Given the description of an element on the screen output the (x, y) to click on. 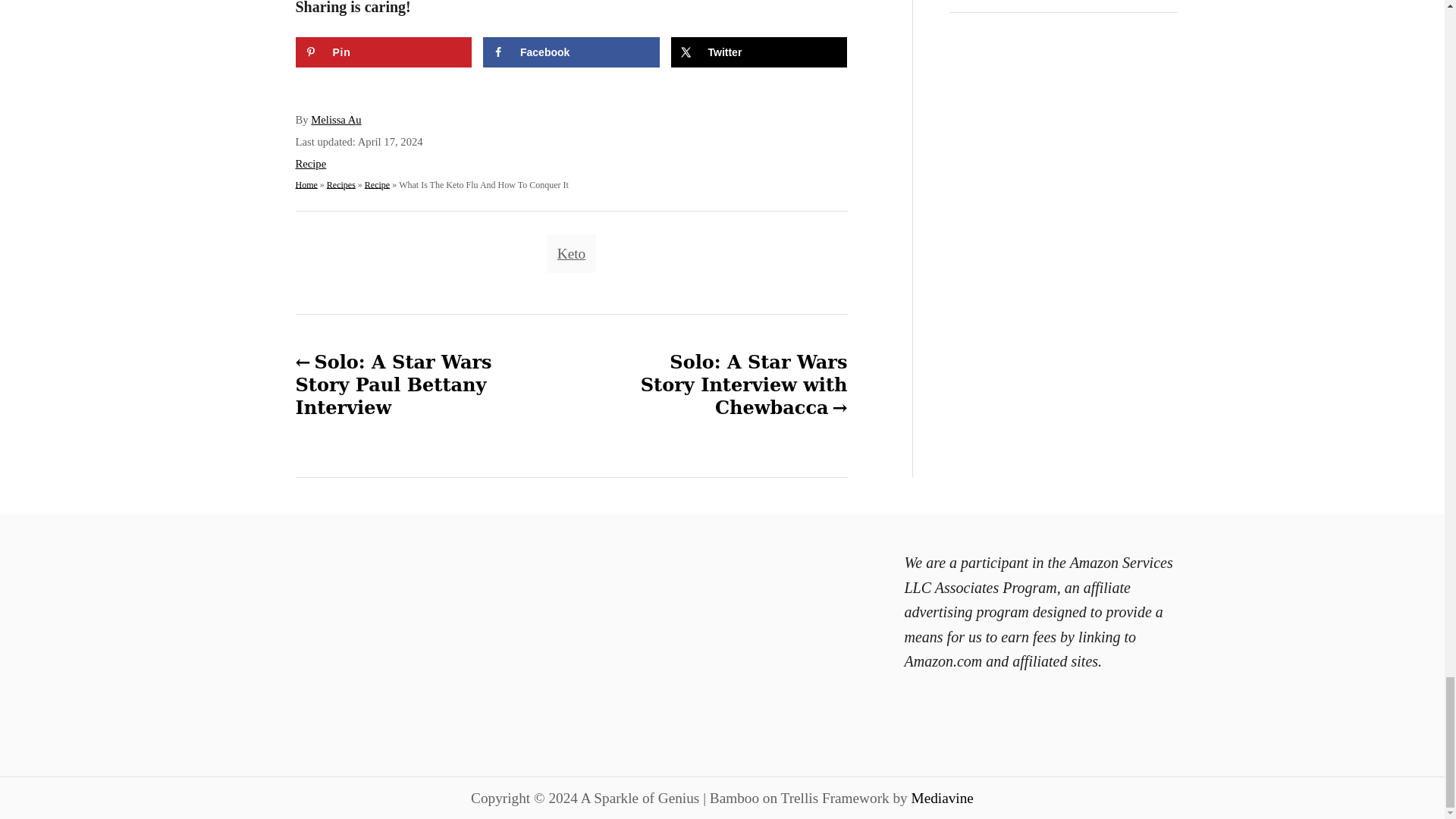
Pin (383, 51)
Share on X (758, 51)
Save to Pinterest (383, 51)
Recipes (340, 184)
Facebook (571, 51)
Share on Facebook (571, 51)
Melissa Au (336, 119)
Recipe (310, 163)
Home (306, 184)
Twitter (758, 51)
